Given the description of an element on the screen output the (x, y) to click on. 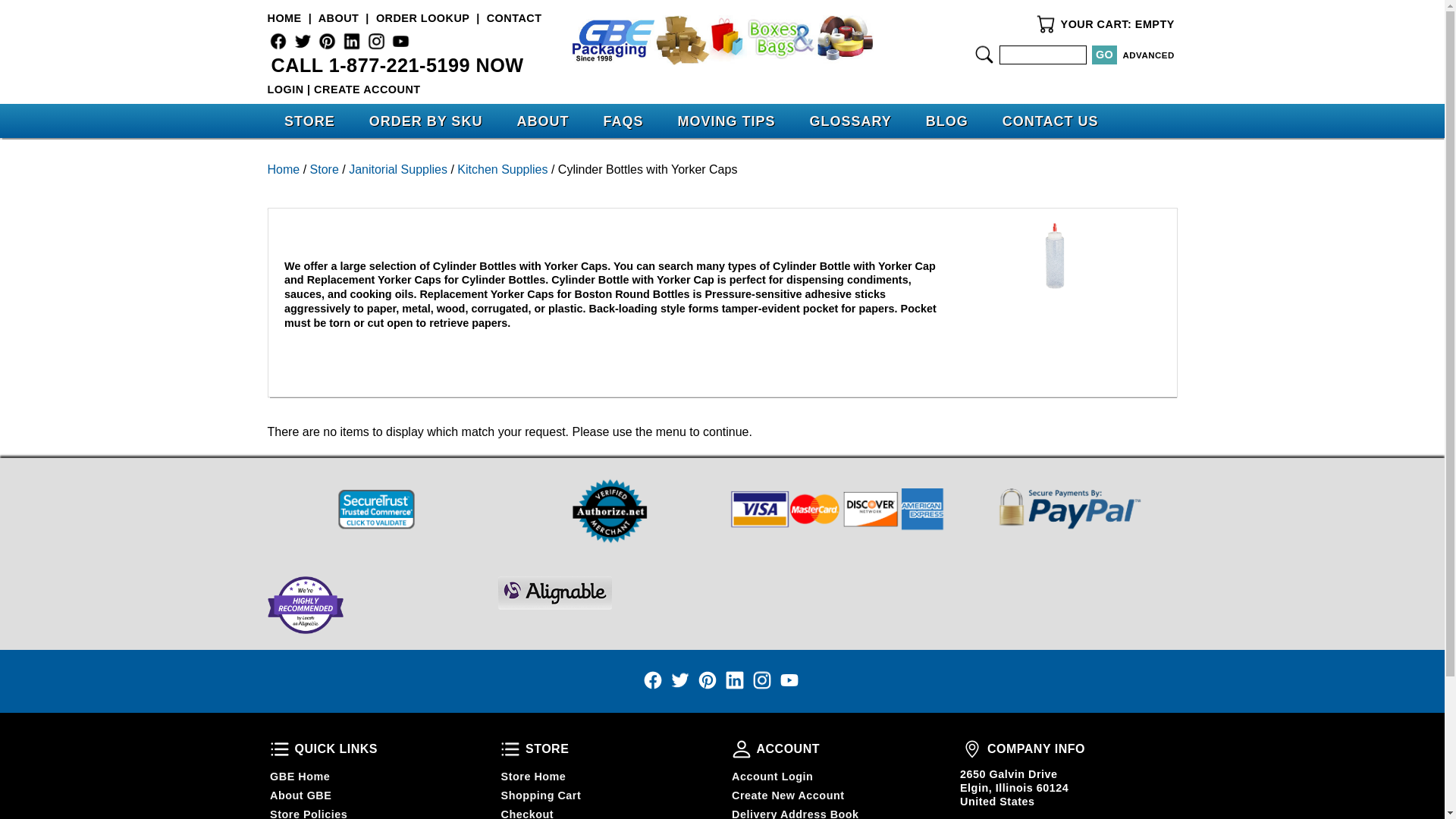
YOUTUBE (401, 41)
Search (983, 54)
Your Cart (1045, 24)
HOME (283, 18)
ADVANCED (1147, 54)
Search (983, 54)
Login (284, 89)
Facebook (277, 41)
Go (1104, 54)
Janitorial Supplies (397, 169)
